Given the description of an element on the screen output the (x, y) to click on. 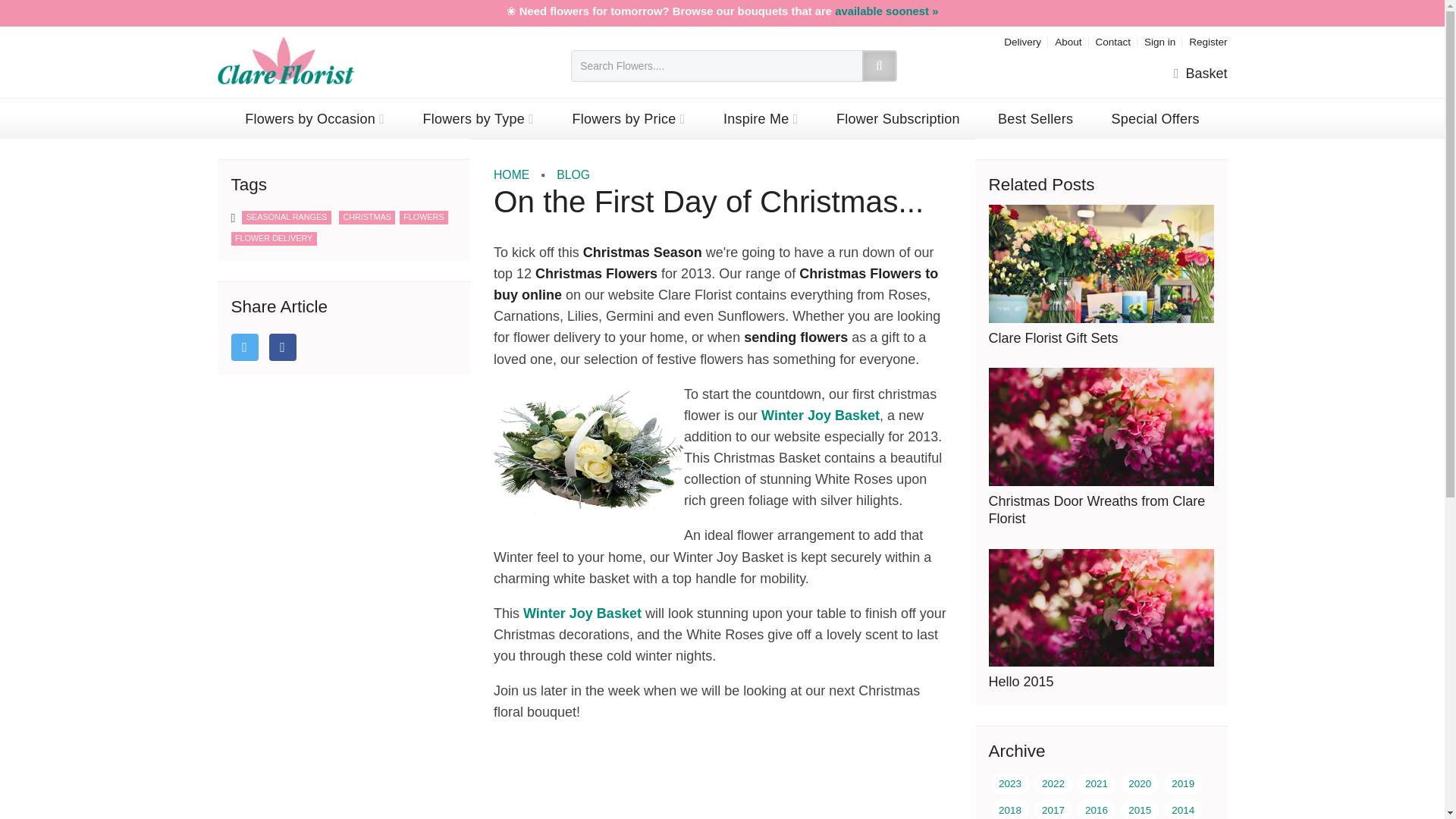
Contact (1112, 41)
Basket (1200, 73)
Sign in (1159, 41)
Show posts from 2016 (1096, 809)
Flowers by Type (478, 118)
Flowers by Occasion (314, 118)
Register (1208, 41)
Show posts from 2022 (1052, 783)
Show posts from 2019 (1182, 783)
Show posts from 2015 (1139, 809)
Show posts from 2023 (1010, 783)
Show posts from 2020 (1139, 783)
Show posts from 2017 (1052, 809)
About (1067, 41)
Show posts from 2021 (1096, 783)
